Given the description of an element on the screen output the (x, y) to click on. 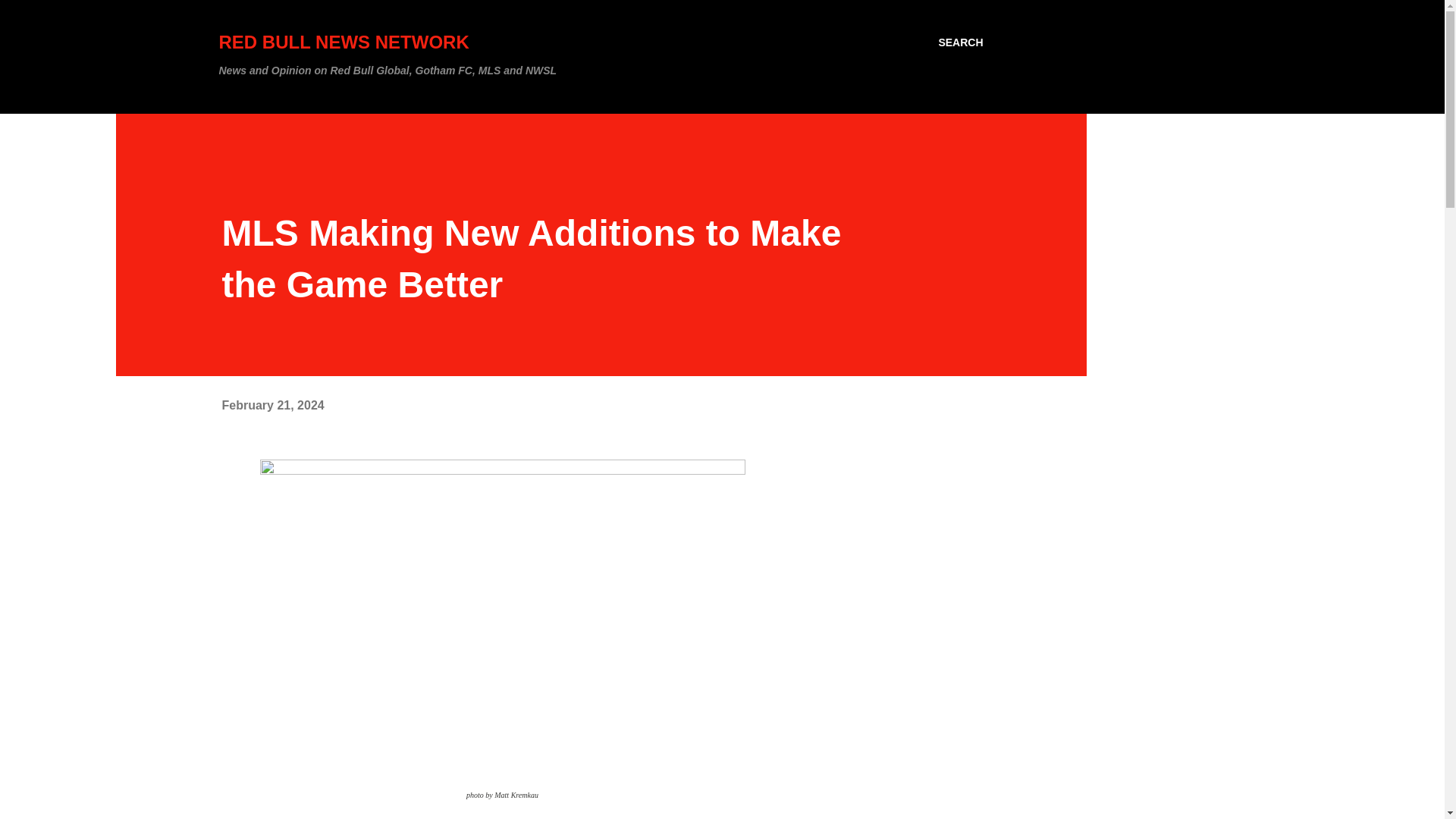
February 21, 2024 (272, 404)
RED BULL NEWS NETWORK (343, 41)
permanent link (272, 404)
SEARCH (959, 42)
